Given the description of an element on the screen output the (x, y) to click on. 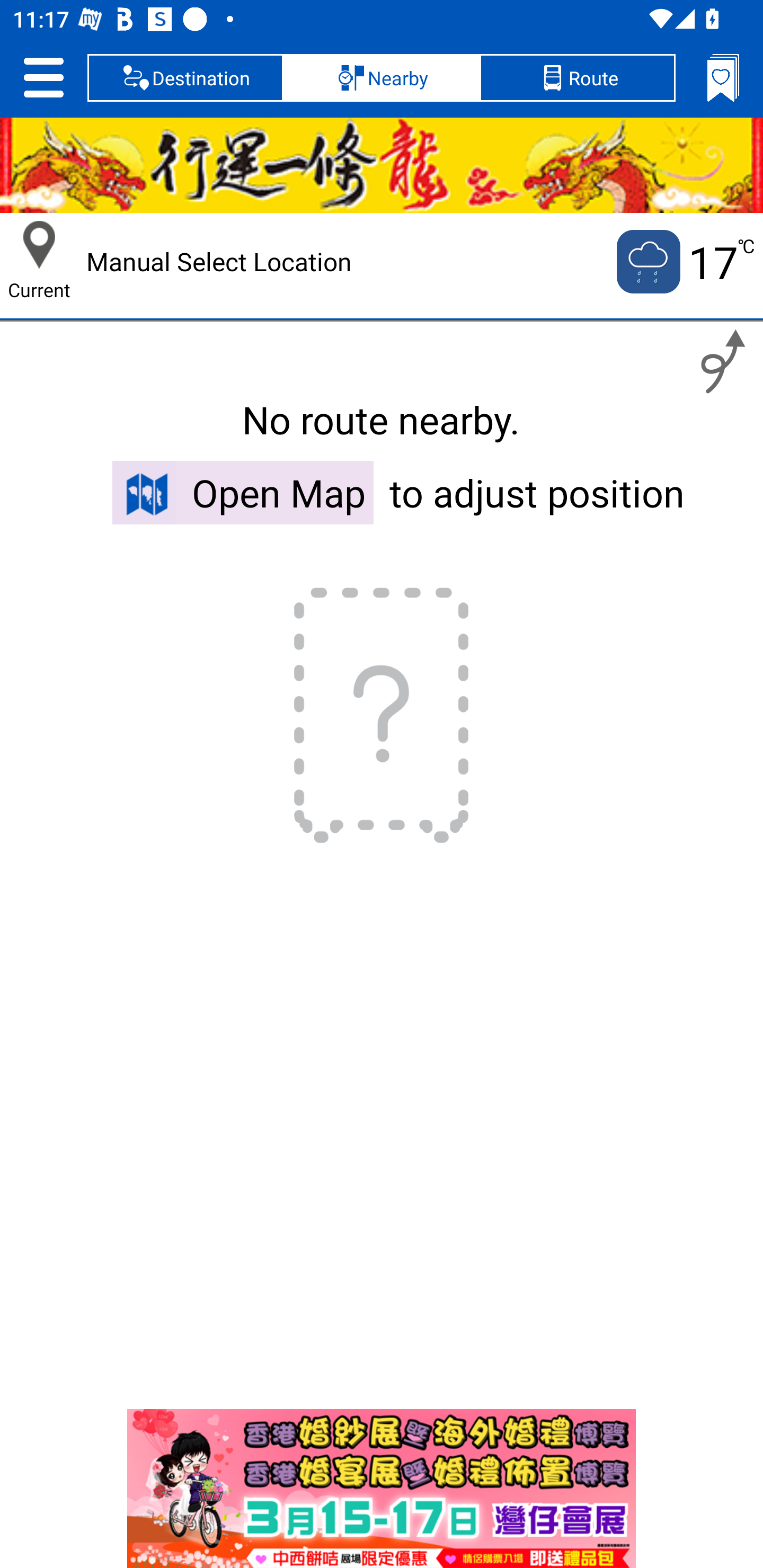
Destination (185, 77)
Nearby, selected (381, 77)
Route (577, 77)
Bookmarks (723, 77)
Setting (43, 77)
Lunar New Year 2024 (381, 165)
Current Location (38, 244)
Current temputure is  17  no 17 ℃ (684, 261)
Open Map (242, 491)
index (381, 1488)
